Given the description of an element on the screen output the (x, y) to click on. 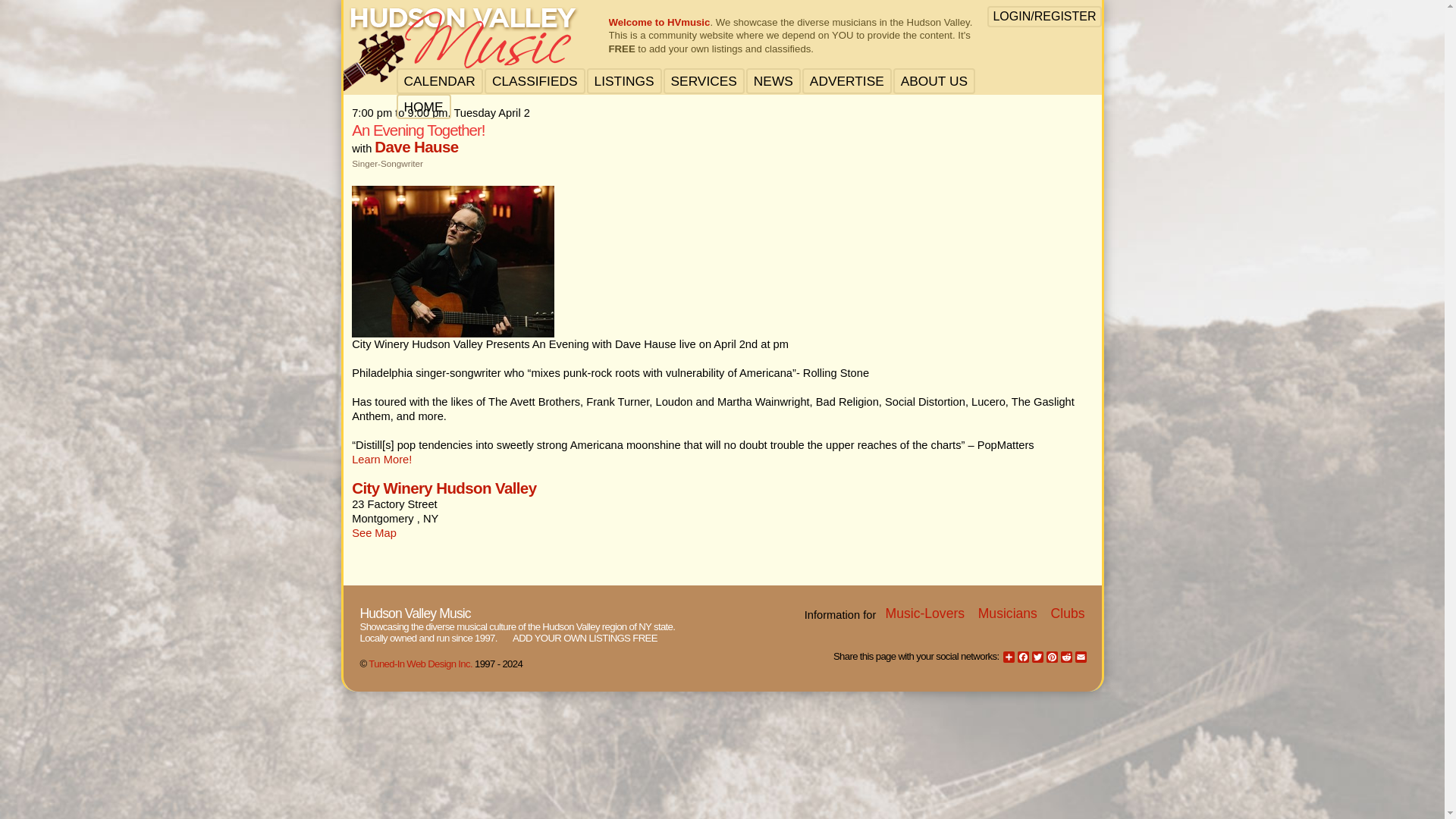
LISTINGS (623, 81)
CALENDAR (438, 81)
CLASSIFIEDS (535, 81)
HOME (422, 107)
SERVICES (703, 81)
